Given the description of an element on the screen output the (x, y) to click on. 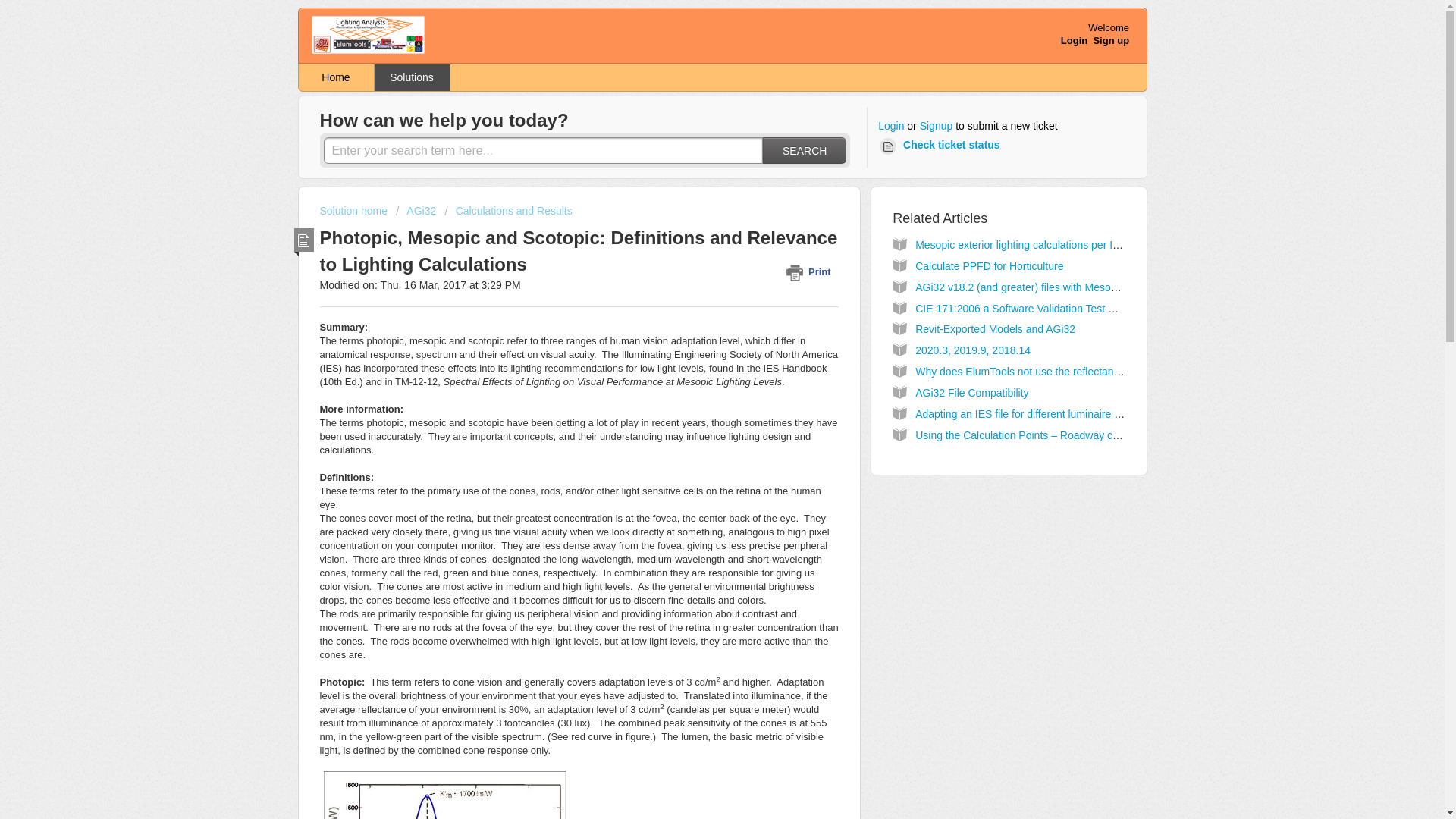
Check ticket status (941, 146)
Print this Article (812, 271)
Solution home (355, 210)
Adapting an IES file for different luminaire configurations. (1048, 413)
SEARCH (803, 150)
AGi32 (415, 210)
Mesopic exterior lighting calculations per IES TM-12-12 (1044, 244)
Signup (936, 126)
Check ticket status (941, 146)
CIE 171:2006 a Software Validation Test Case (1023, 308)
Home (336, 77)
Solutions (411, 77)
Print (812, 271)
2020.3, 2019.9, 2018.14 (972, 349)
